Given the description of an element on the screen output the (x, y) to click on. 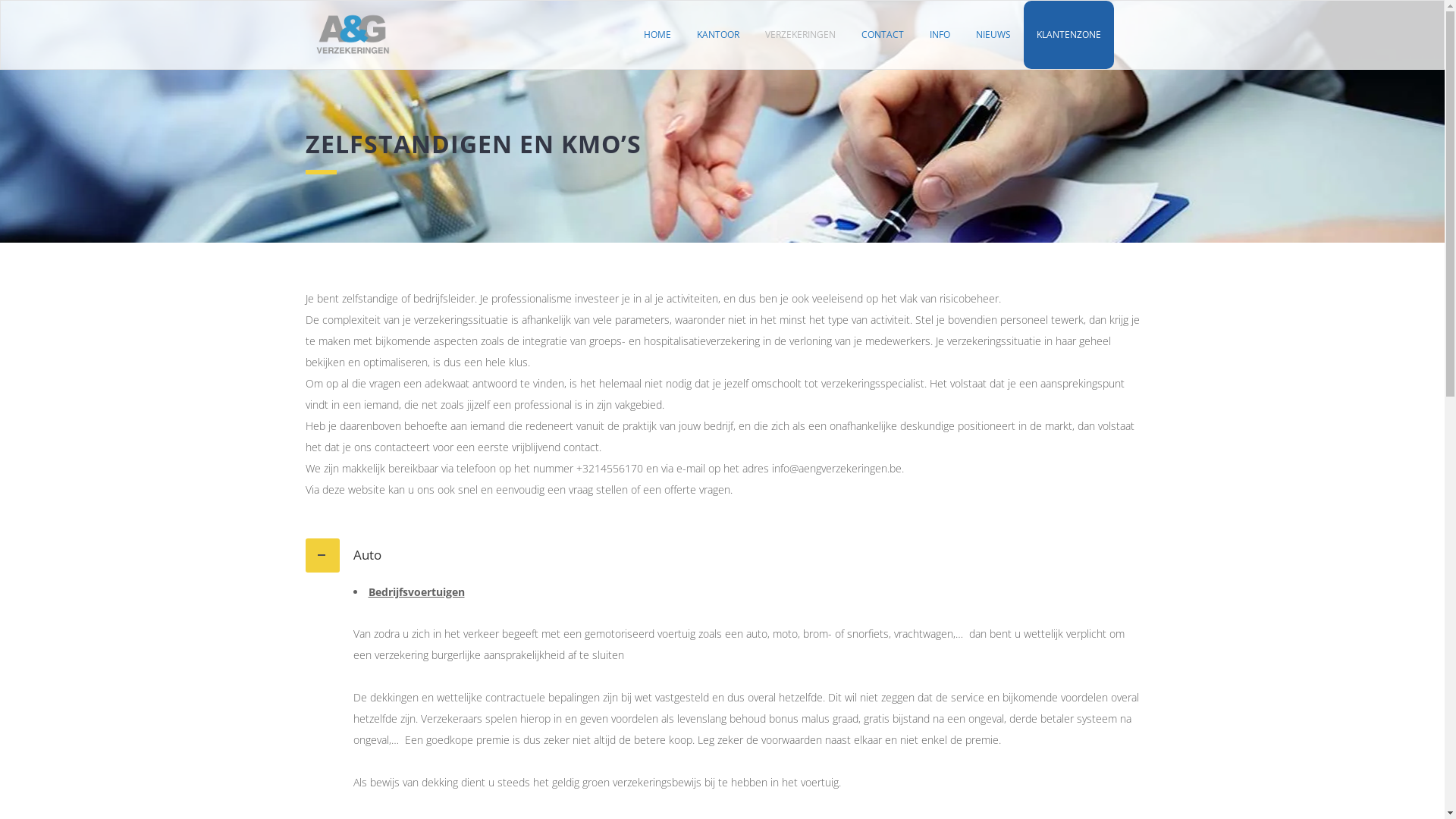
KLANTENZONE Element type: text (1001, 570)
NIEUWS Element type: text (993, 34)
VERZEKERINGEN Element type: text (800, 34)
CONTACTPAGINA Element type: text (797, 570)
Privacy policy Element type: text (767, 639)
Cookie policy Element type: text (768, 618)
INFO Element type: text (939, 34)
CONTACT Element type: text (881, 34)
KANTOOR Element type: text (718, 34)
KLANTENZONE Element type: text (1068, 34)
HOME Element type: text (657, 34)
